Given the description of an element on the screen output the (x, y) to click on. 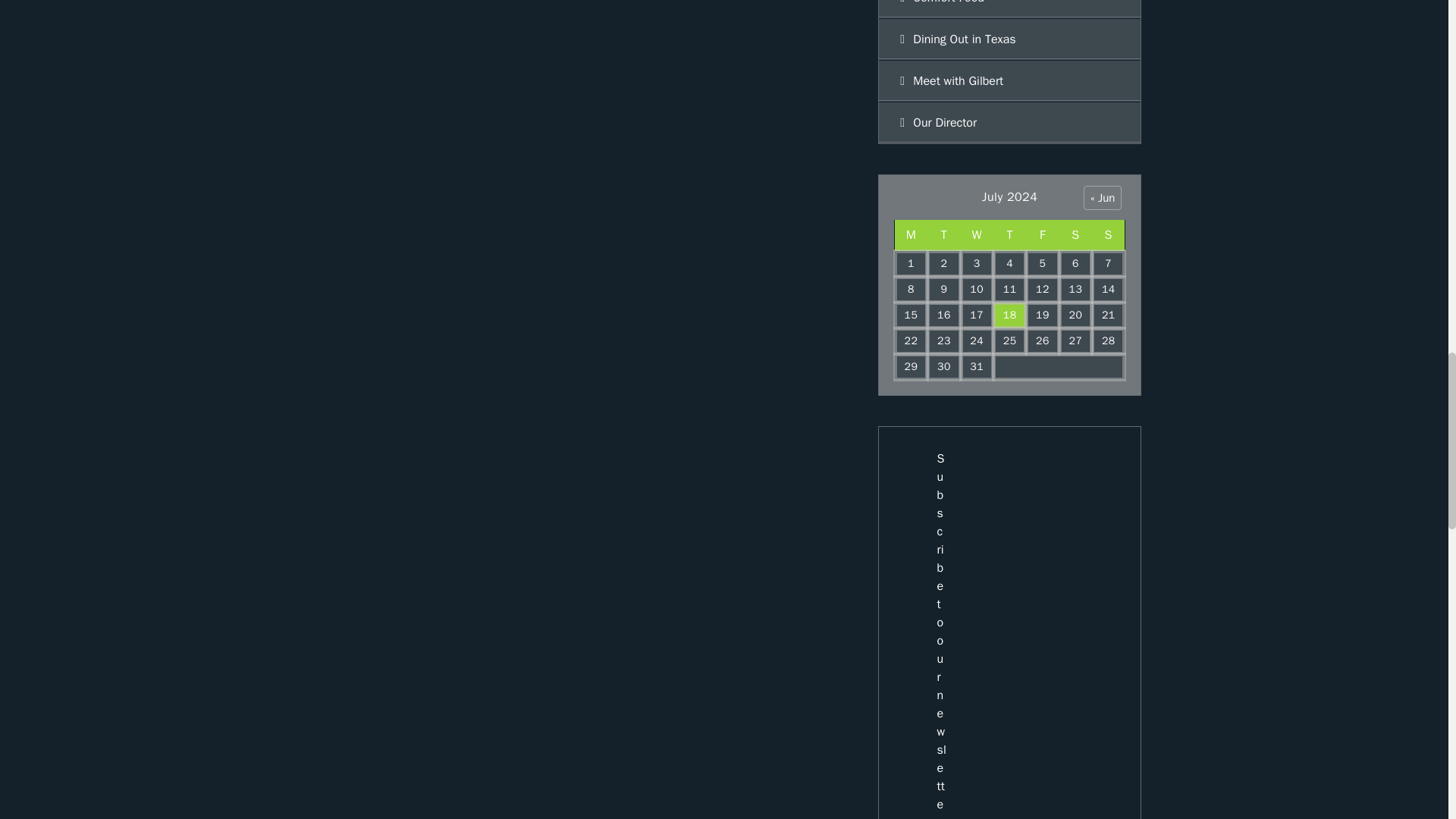
Tuesday (943, 235)
Monday (911, 235)
Wednesday (976, 235)
